Given the description of an element on the screen output the (x, y) to click on. 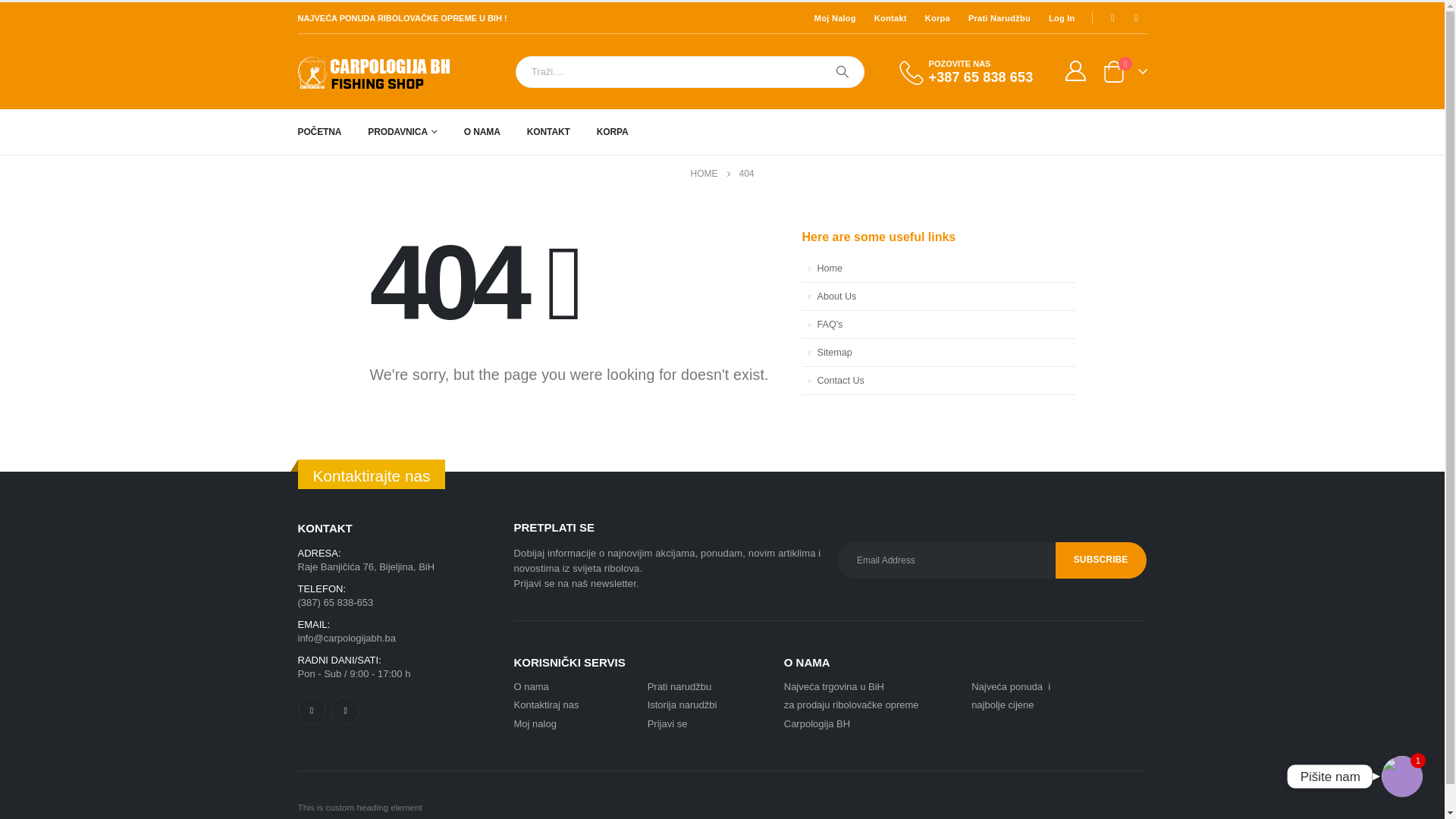
CarpologijaBH - Oprema za ribolov Element type: hover (372, 71)
FAQ's Element type: text (938, 324)
PRODAVNICA Element type: text (414, 131)
Facebook Element type: hover (311, 710)
Log In Element type: text (1058, 17)
SUBSCRIBE Element type: text (1100, 560)
Kontaktiraj nas Element type: text (546, 704)
Search Element type: hover (842, 71)
Instagram Element type: hover (345, 710)
Facebook Element type: hover (1113, 18)
Prijavi se Element type: text (667, 723)
About Us Element type: text (938, 296)
info@carpologijabh.ba Element type: text (346, 637)
POZOVITE NAS
+387 65 838 653 Element type: text (974, 71)
Contact Us Element type: text (938, 381)
O nama Element type: text (531, 686)
KORPA Element type: text (625, 131)
O NAMA Element type: text (495, 131)
Kontakt Element type: text (887, 17)
Home Element type: text (938, 268)
Instagram Element type: hover (1136, 18)
HOME Element type: text (703, 173)
Moj Nalog Element type: text (832, 17)
KONTAKT Element type: text (561, 131)
Korpa Element type: text (934, 17)
Moj nalog Element type: text (535, 723)
Sitemap Element type: text (938, 352)
